Given the description of an element on the screen output the (x, y) to click on. 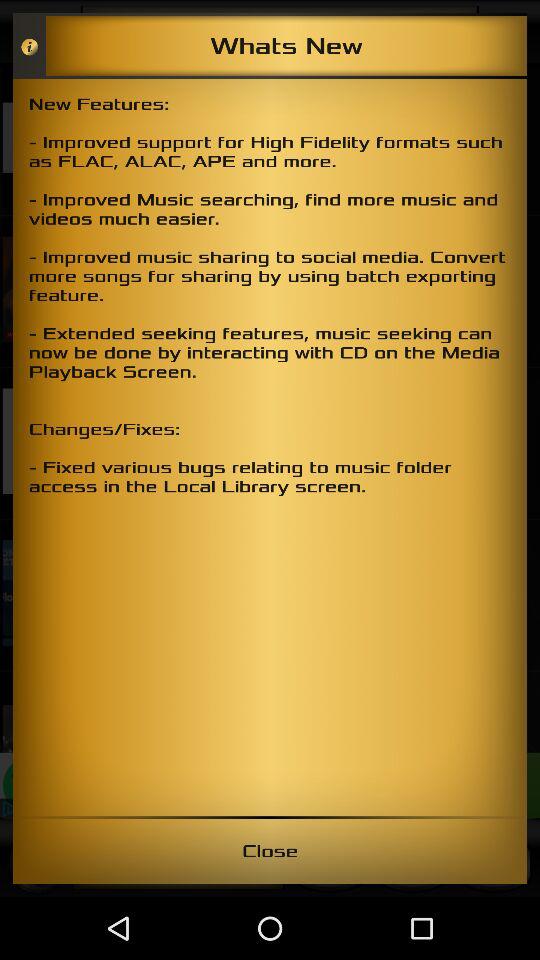
launch item below the whats new (269, 447)
